Given the description of an element on the screen output the (x, y) to click on. 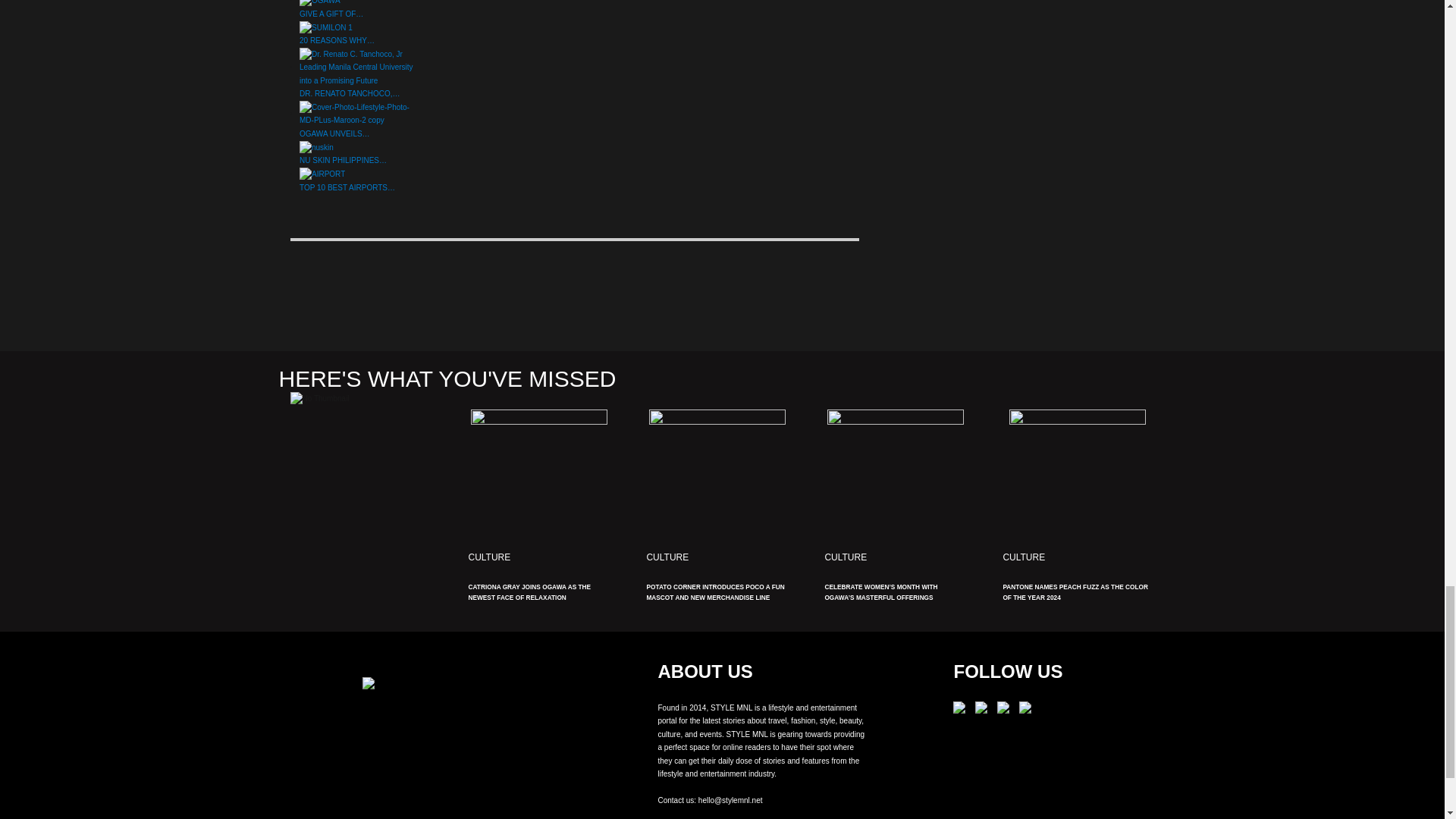
20 REASONS WHY TRAVELERS NEED TO VISIT BLUEWATER SUMILON (325, 28)
DR. RENATO TANCHOCO, JR. LEADS MCU INTO A PROMISING FUTURE (356, 67)
